Given the description of an element on the screen output the (x, y) to click on. 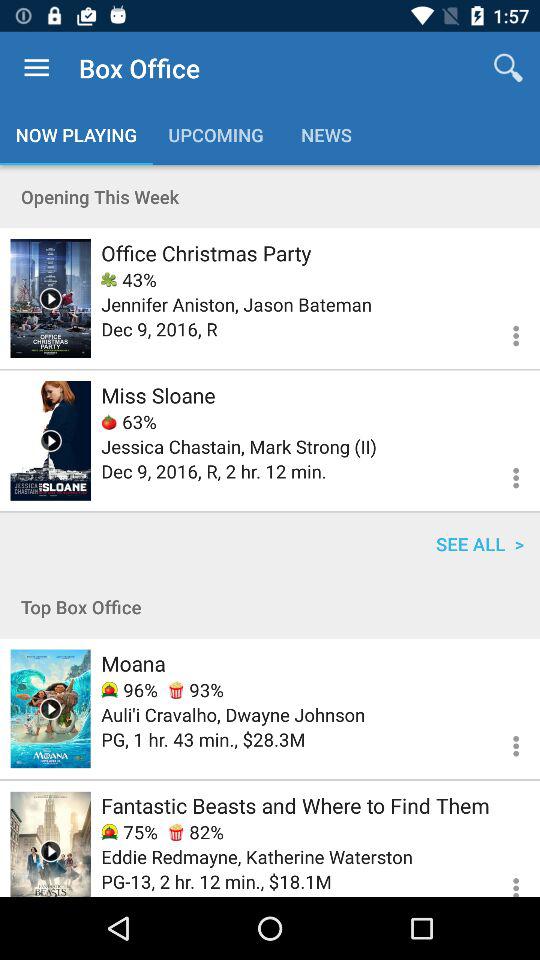
see more information about the option (503, 332)
